Given the description of an element on the screen output the (x, y) to click on. 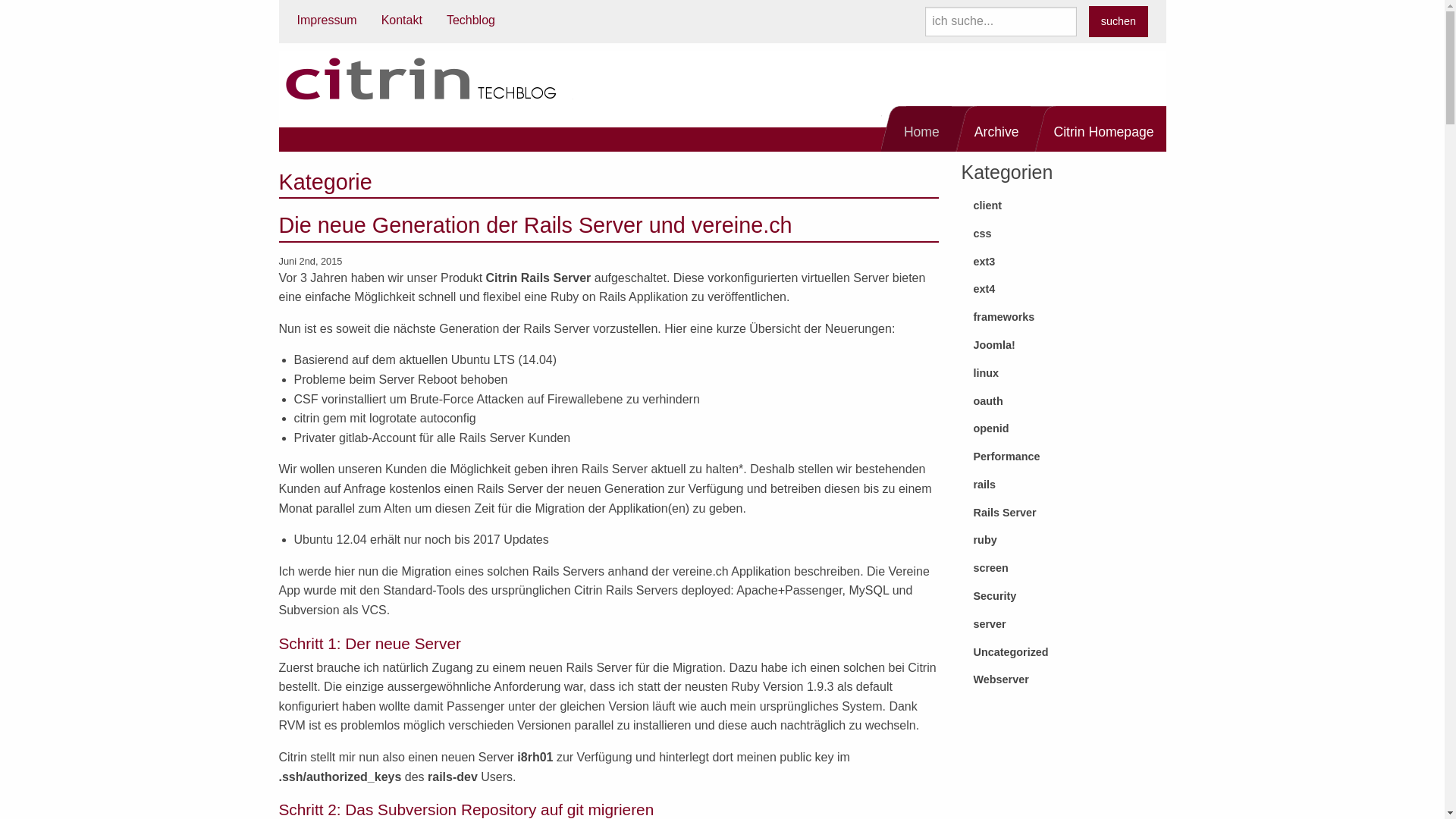
openid Element type: text (1063, 428)
Webserver Element type: text (1063, 679)
Rails Server Element type: text (1063, 512)
ext3 Element type: text (1063, 261)
frameworks Element type: text (1063, 317)
ext4 Element type: text (1063, 289)
Performance Element type: text (1063, 456)
oauth Element type: text (1063, 400)
Die neue Generation der Rails Server und vereine.ch Element type: text (535, 225)
Citrin Homepage Element type: text (1100, 128)
Techblog Element type: text (470, 20)
client Element type: text (1063, 205)
Impressum Element type: text (327, 20)
rails Element type: text (1063, 484)
server Element type: text (1063, 624)
screen Element type: text (1063, 568)
ruby Element type: text (1063, 540)
Home Element type: text (919, 128)
css Element type: text (1063, 233)
Uncategorized Element type: text (1063, 651)
Kontakt Element type: text (401, 20)
Archive Element type: text (994, 128)
Security Element type: text (1063, 596)
Joomla! Element type: text (1063, 345)
linux Element type: text (1063, 373)
suchen Element type: text (1117, 21)
